Given the description of an element on the screen output the (x, y) to click on. 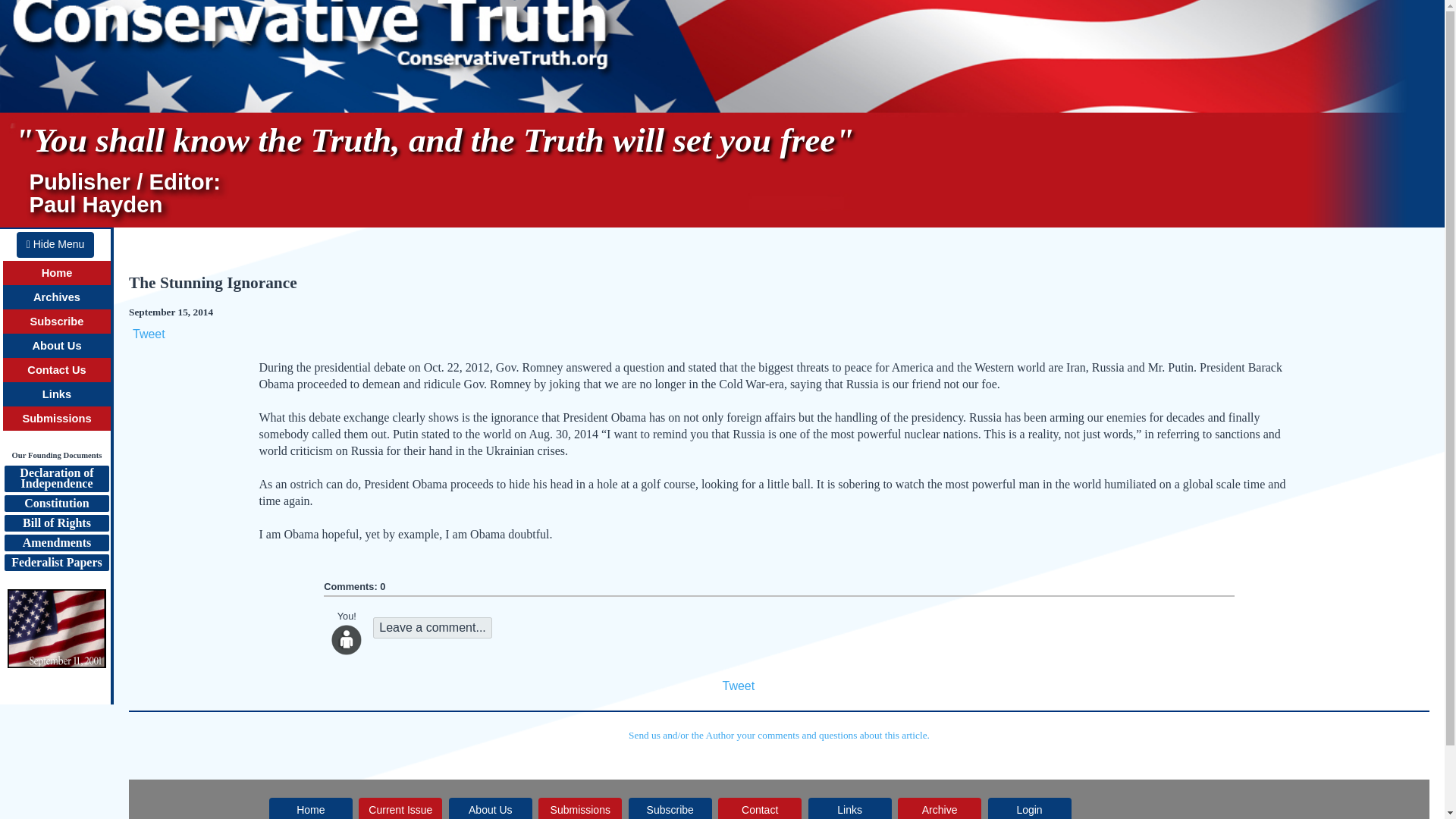
Login (1029, 808)
About Us (56, 345)
Leave a comment... (56, 479)
Constitution (432, 627)
About Us (56, 503)
Archives (490, 808)
Tweet (56, 297)
Hide Menu (738, 685)
Home (55, 244)
Submissions (57, 272)
Federalist Papers (55, 418)
Contact Us (56, 562)
Subscribe (56, 369)
Subscribe (57, 321)
